Given the description of an element on the screen output the (x, y) to click on. 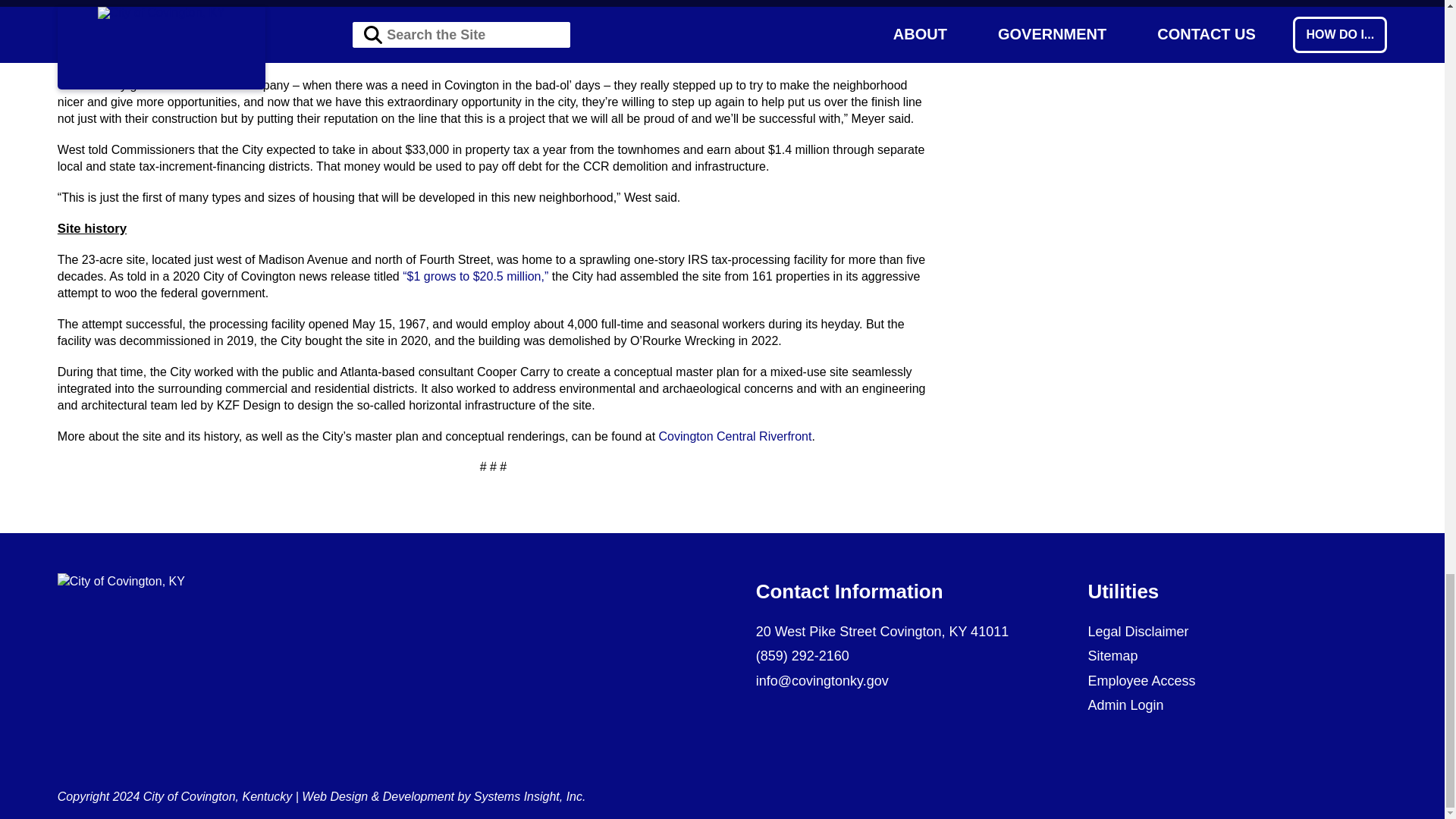
Covington Central Riverfront (735, 436)
